Given the description of an element on the screen output the (x, y) to click on. 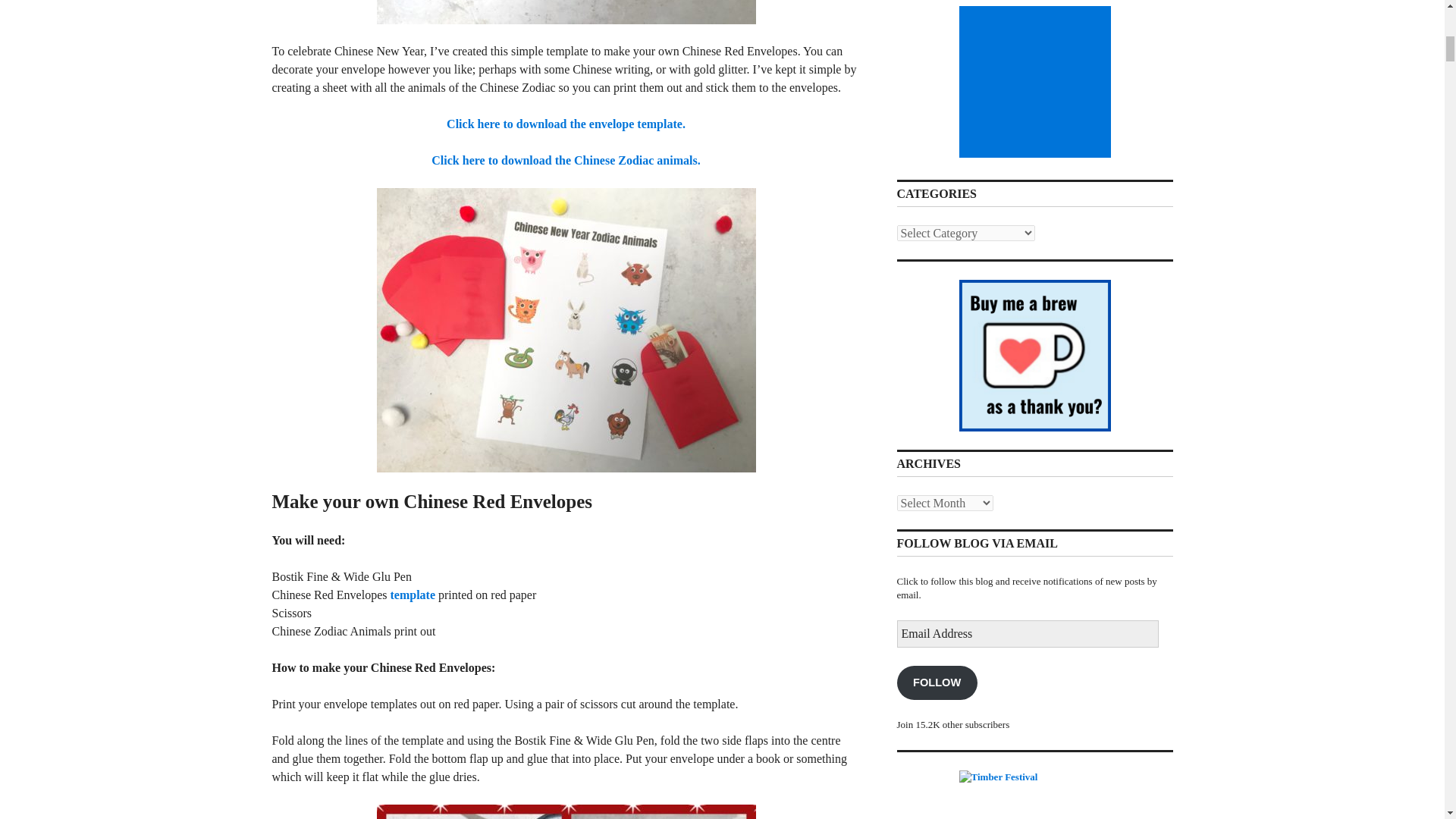
Click here to download the Chinese Zodiac animals. (565, 160)
Click here to download the envelope template. (565, 123)
template (412, 594)
Advertisement (1036, 81)
